Given the description of an element on the screen output the (x, y) to click on. 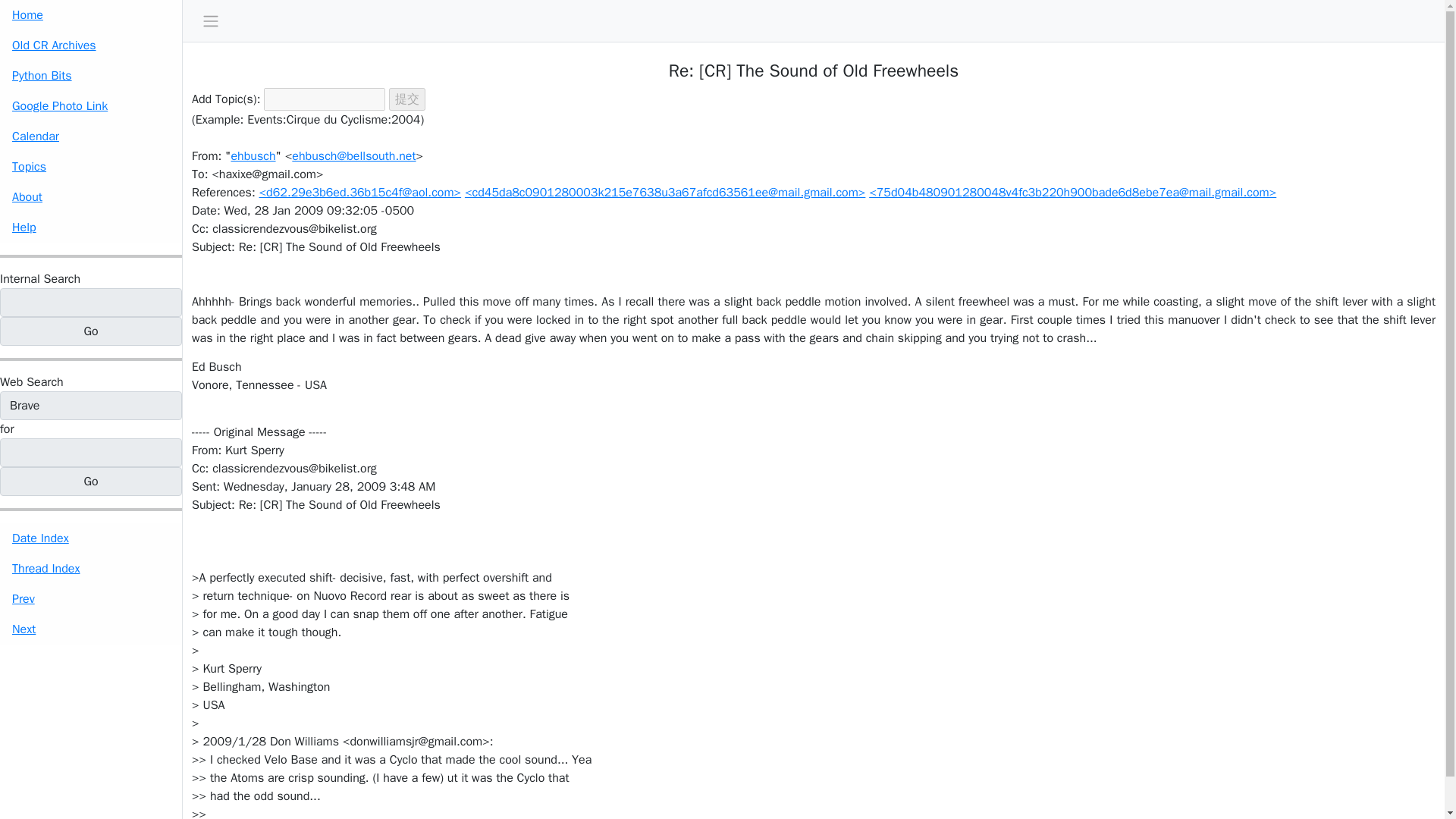
Google Photo Link (91, 105)
Enter a word or phrase to search the archive. (40, 279)
Python Bits (91, 75)
Prev (91, 598)
ehbusch (252, 155)
Topics (91, 166)
Calendar (91, 136)
Go (91, 330)
Go (91, 481)
Select your preferred search engine and enter a search term. (32, 382)
Help (91, 227)
Thread Index (91, 568)
About (91, 196)
Go (91, 330)
Home (91, 15)
